Given the description of an element on the screen output the (x, y) to click on. 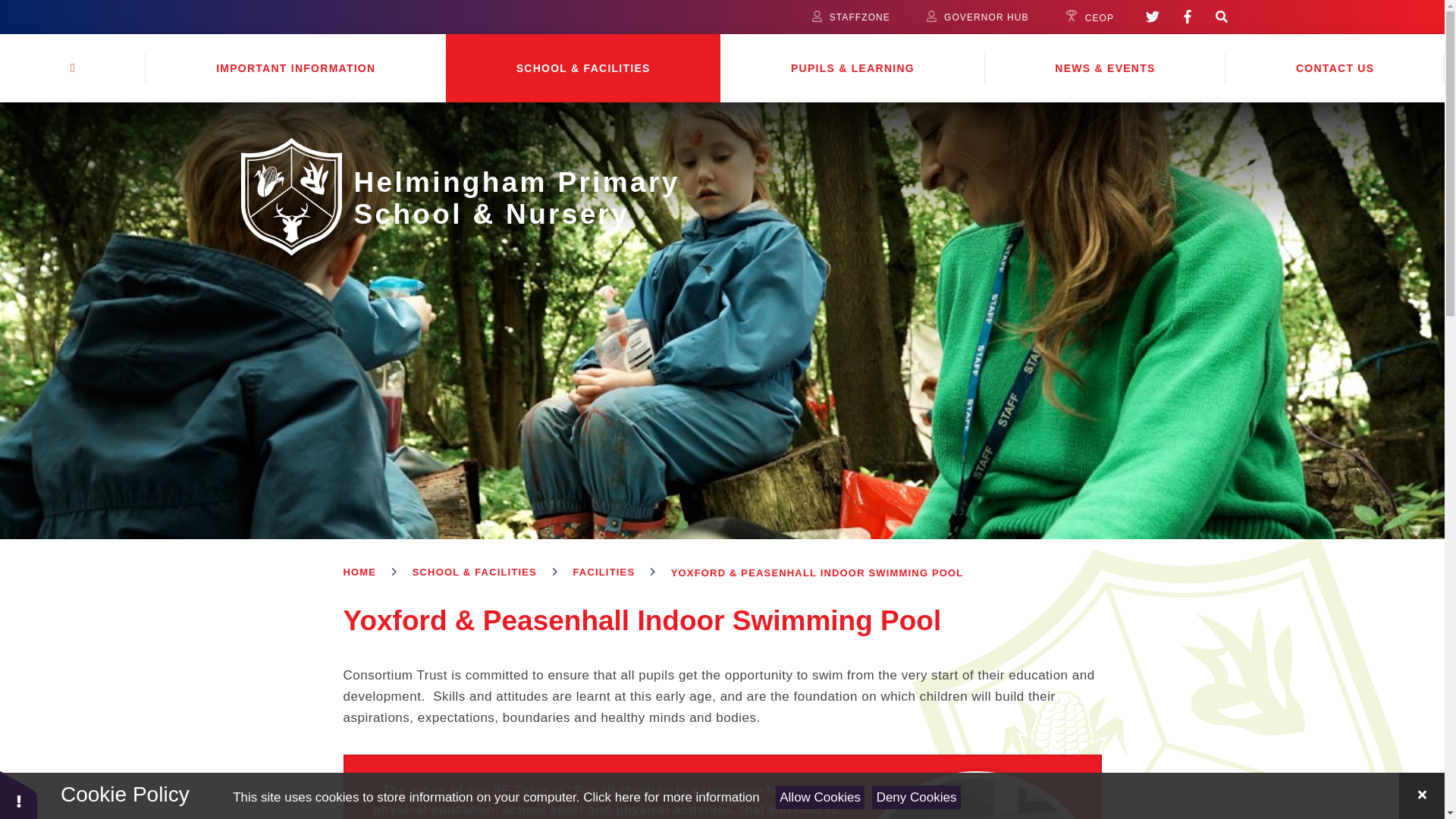
Allow Cookies (820, 797)
Deny Cookies (915, 797)
STAFFZONE (850, 16)
See cookie policy (670, 797)
CEOP (1089, 16)
GOVERNOR HUB (977, 16)
IMPORTANT INFORMATION (295, 68)
HOME (72, 68)
